Given the description of an element on the screen output the (x, y) to click on. 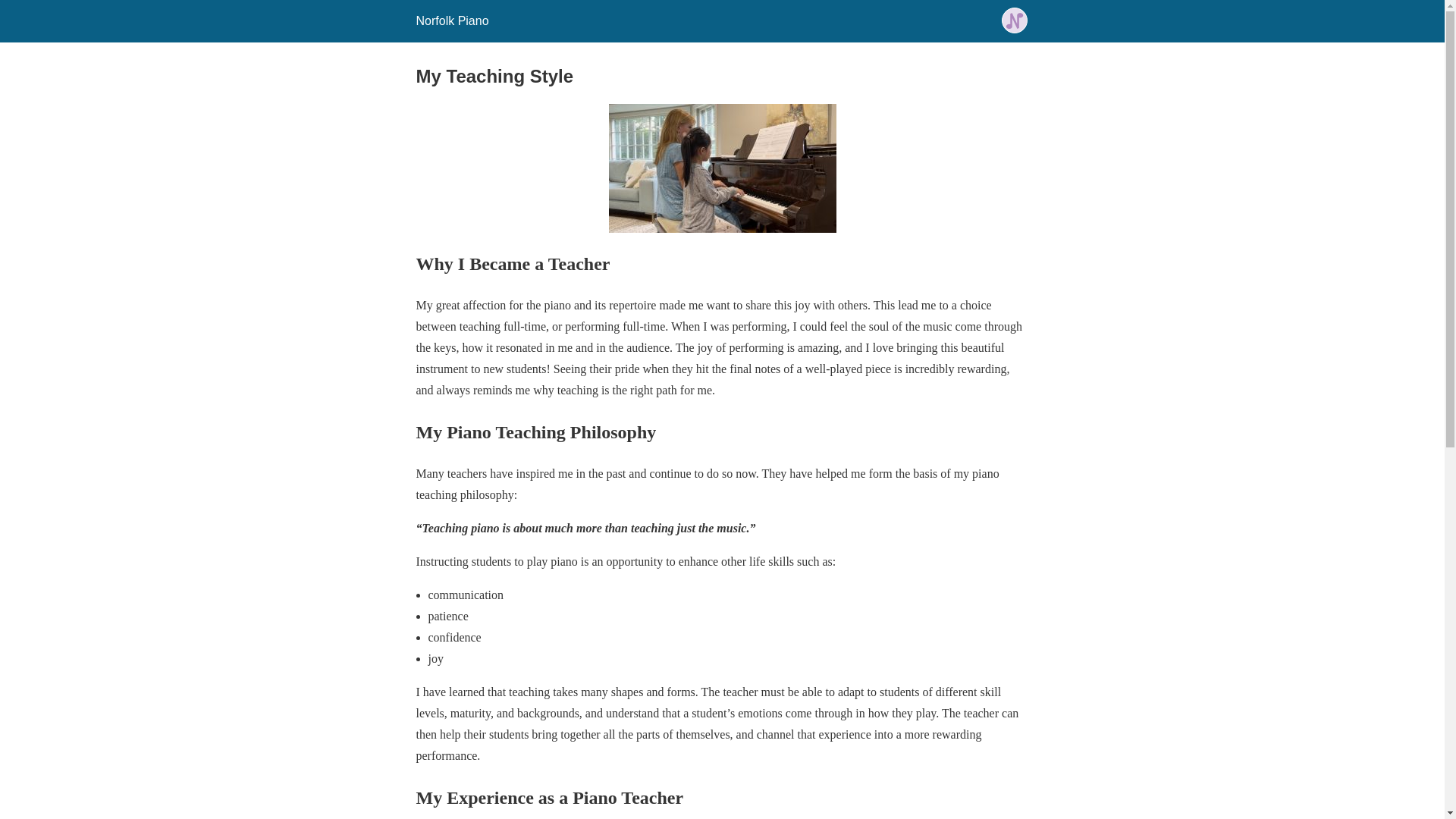
Norfolk Piano (450, 20)
